Given the description of an element on the screen output the (x, y) to click on. 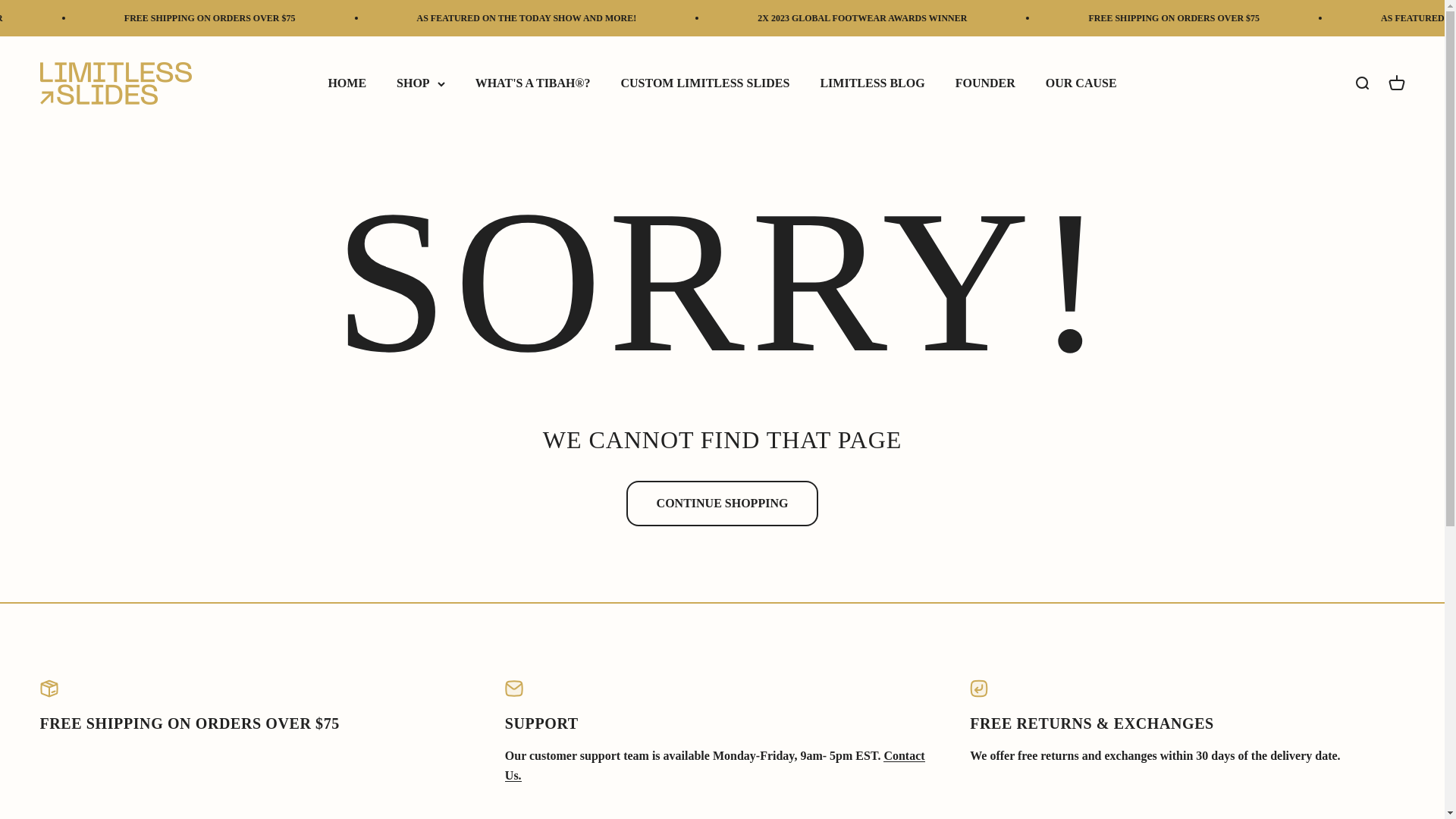
HOME (346, 83)
Open search (1361, 83)
Limitless Slides (114, 83)
LIMITLESS BLOG (871, 83)
FOUNDER (984, 83)
AS FEATURED ON THE TODAY SHOW AND MORE! (791, 18)
CONTACT US (714, 765)
CUSTOM LIMITLESS SLIDES (704, 83)
OUR CAUSE (1396, 83)
